Given the description of an element on the screen output the (x, y) to click on. 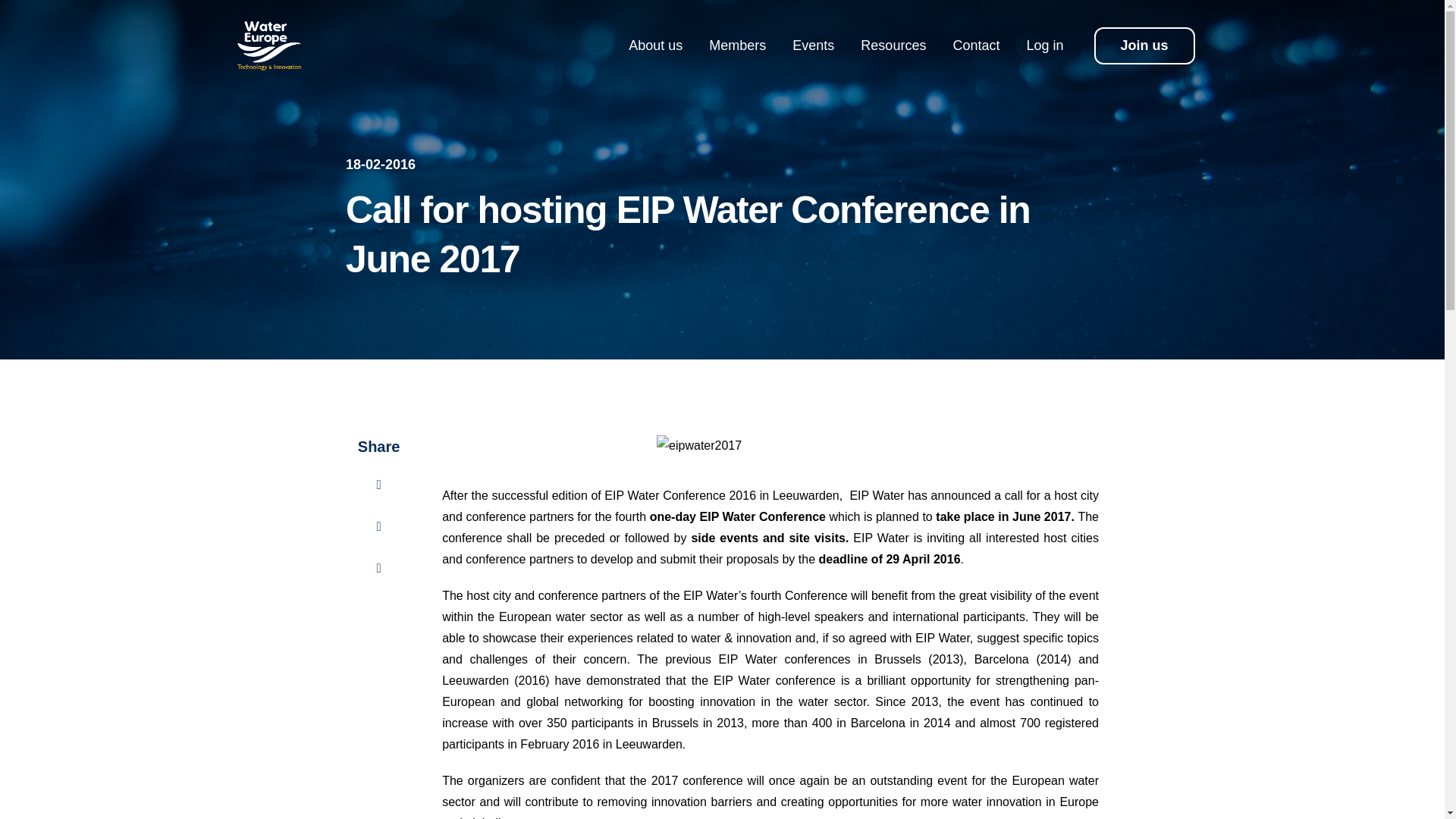
Contact (975, 46)
Members (737, 46)
Log in (1044, 46)
Resources (893, 46)
Events (813, 46)
About us (655, 46)
